Given the description of an element on the screen output the (x, y) to click on. 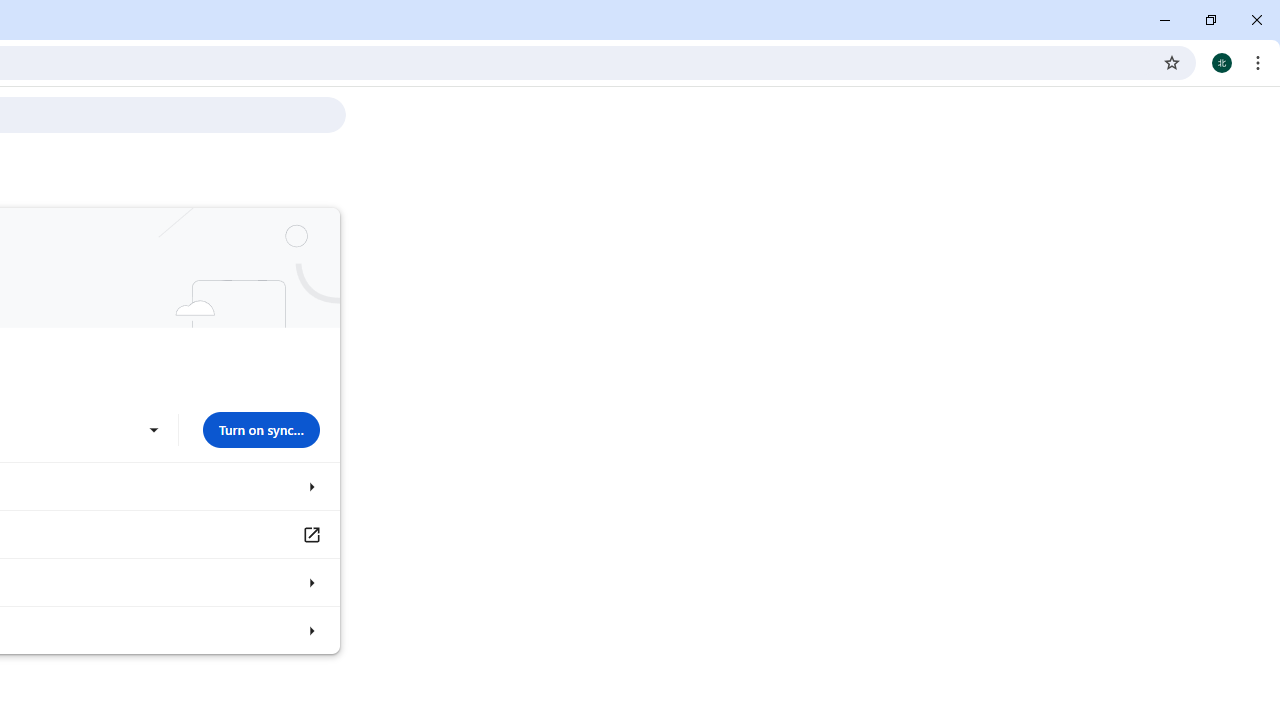
Use another account (153, 430)
Import bookmarks and settings (310, 630)
Manage your Google Account (310, 533)
Customize your Chrome profile (310, 582)
Sync and Google services (310, 486)
